Given the description of an element on the screen output the (x, y) to click on. 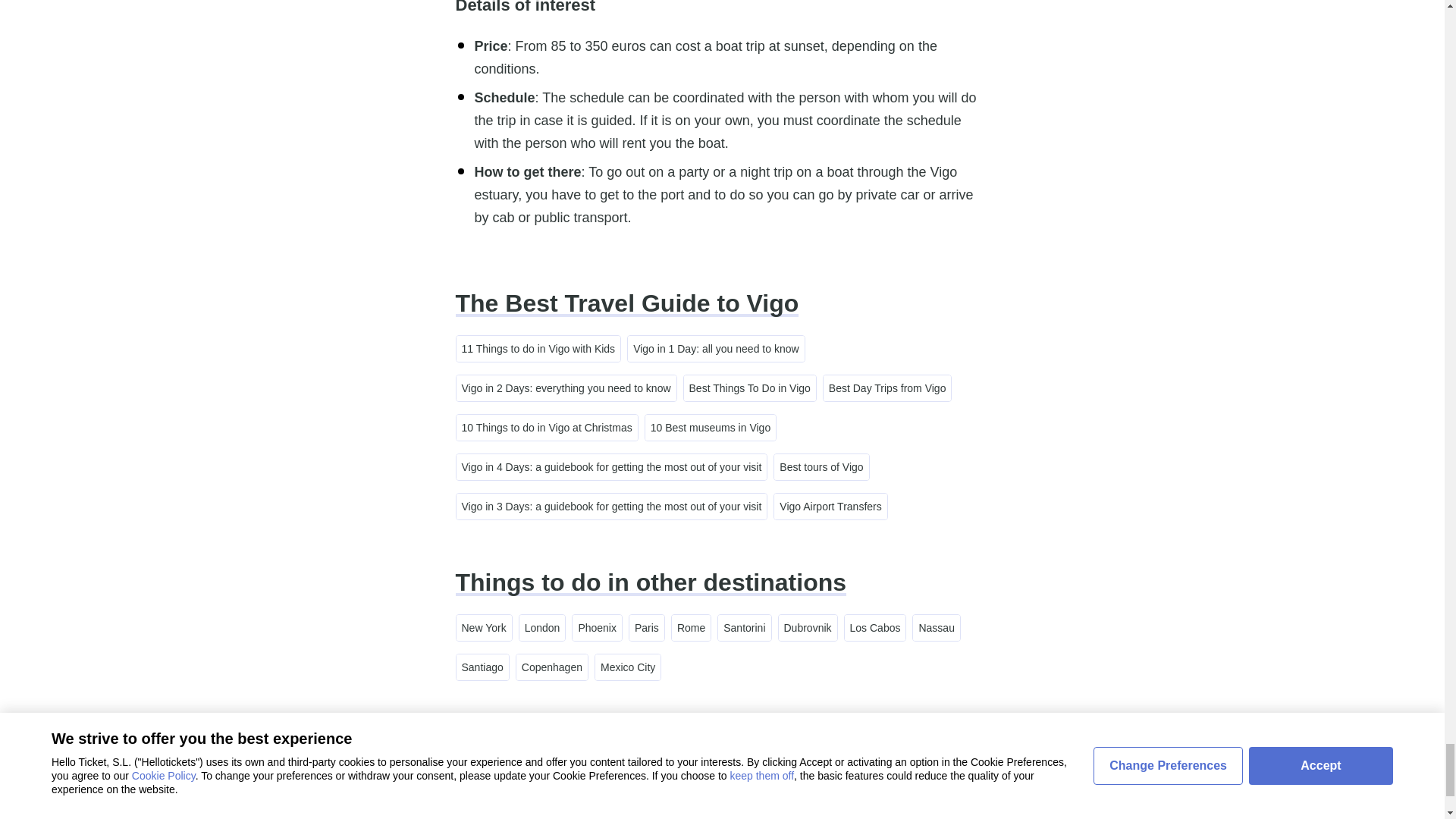
Best Day Trips from Vigo (888, 388)
The Best Travel Guide to Vigo (625, 302)
Best tours of Vigo (820, 466)
Vigo Airport Transfers (830, 506)
11 Things to do in Vigo with Kids (539, 348)
10 Things to do in Vigo at Christmas (547, 427)
Vigo in 2 Days: everything you need to know (567, 388)
10 Best museums in Vigo (710, 427)
Best Things To Do in Vigo (749, 388)
Things to do in other destinations (649, 582)
Vigo in 1 Day: all you need to know (715, 348)
